Given the description of an element on the screen output the (x, y) to click on. 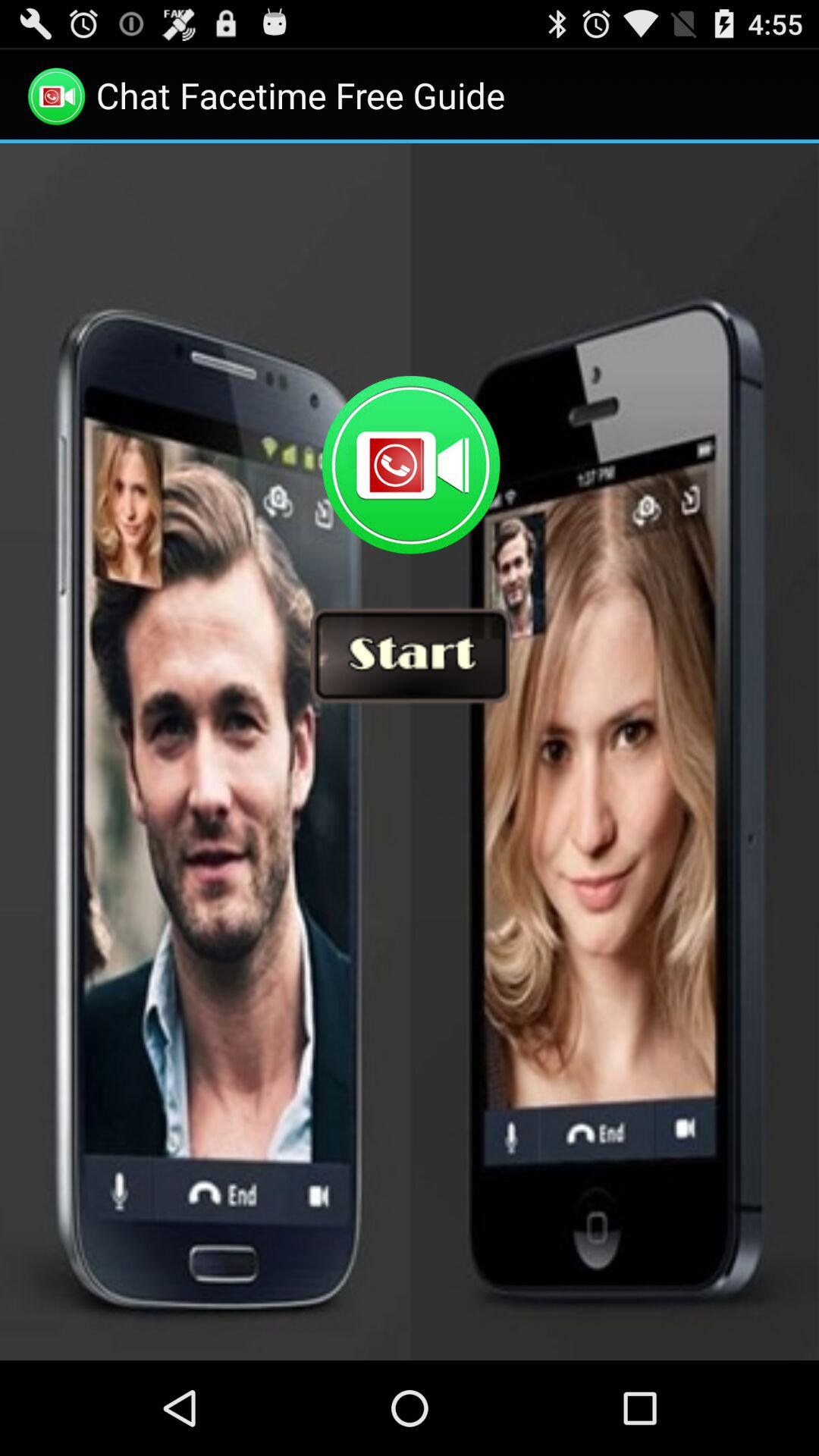
description (409, 751)
